Given the description of an element on the screen output the (x, y) to click on. 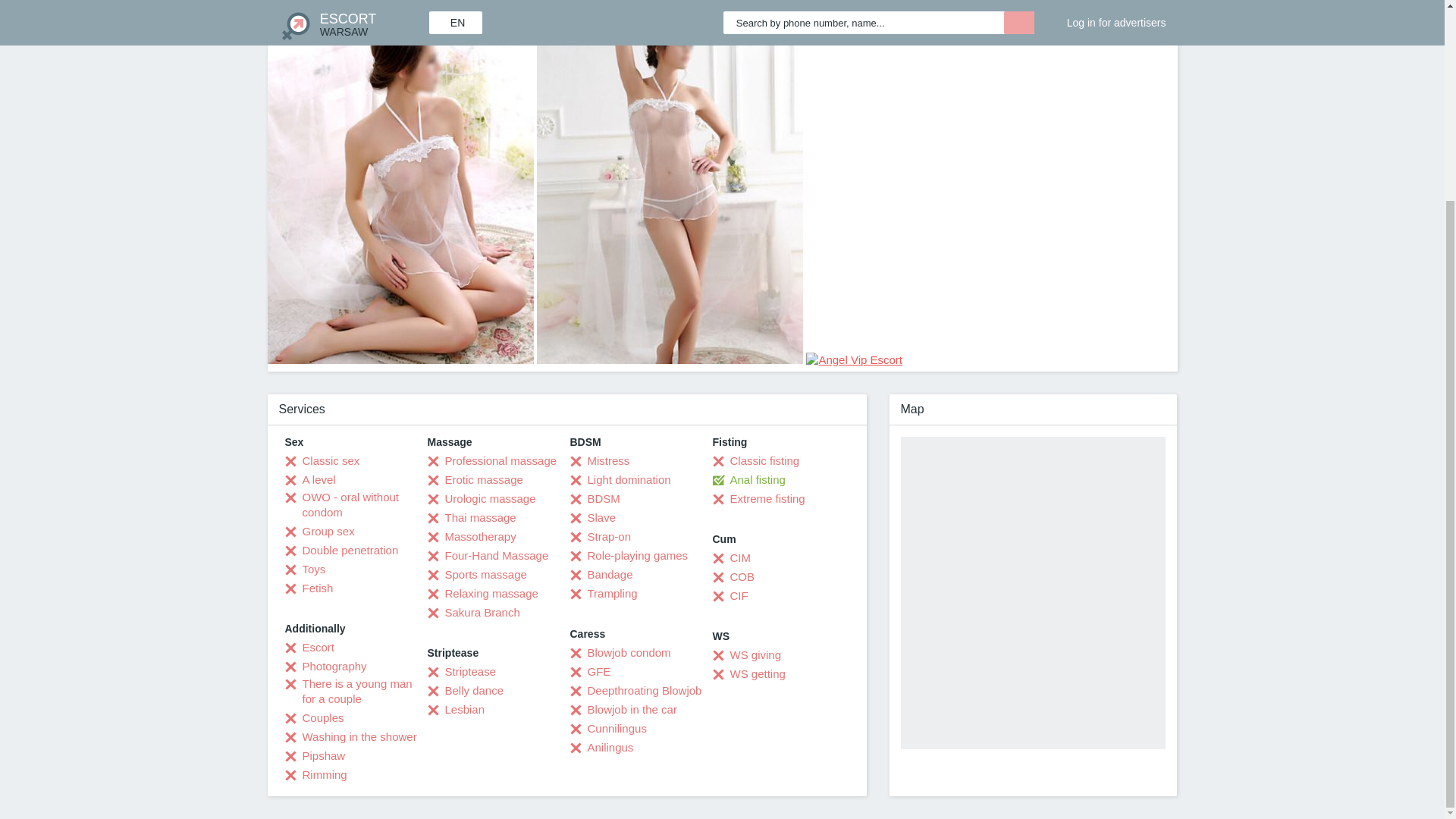
There is a young man for a couple (356, 691)
Thai massage (472, 517)
Professional massage (492, 460)
OWO - oral without condom (356, 504)
Escort (309, 647)
Rimming (316, 774)
Couples (314, 717)
Fetish (309, 588)
Pipshaw (315, 755)
Washing in the shower (350, 736)
Photography (325, 666)
Erotic massage (475, 479)
Double penetration (341, 549)
A level (310, 479)
Classic sex (322, 460)
